Given the description of an element on the screen output the (x, y) to click on. 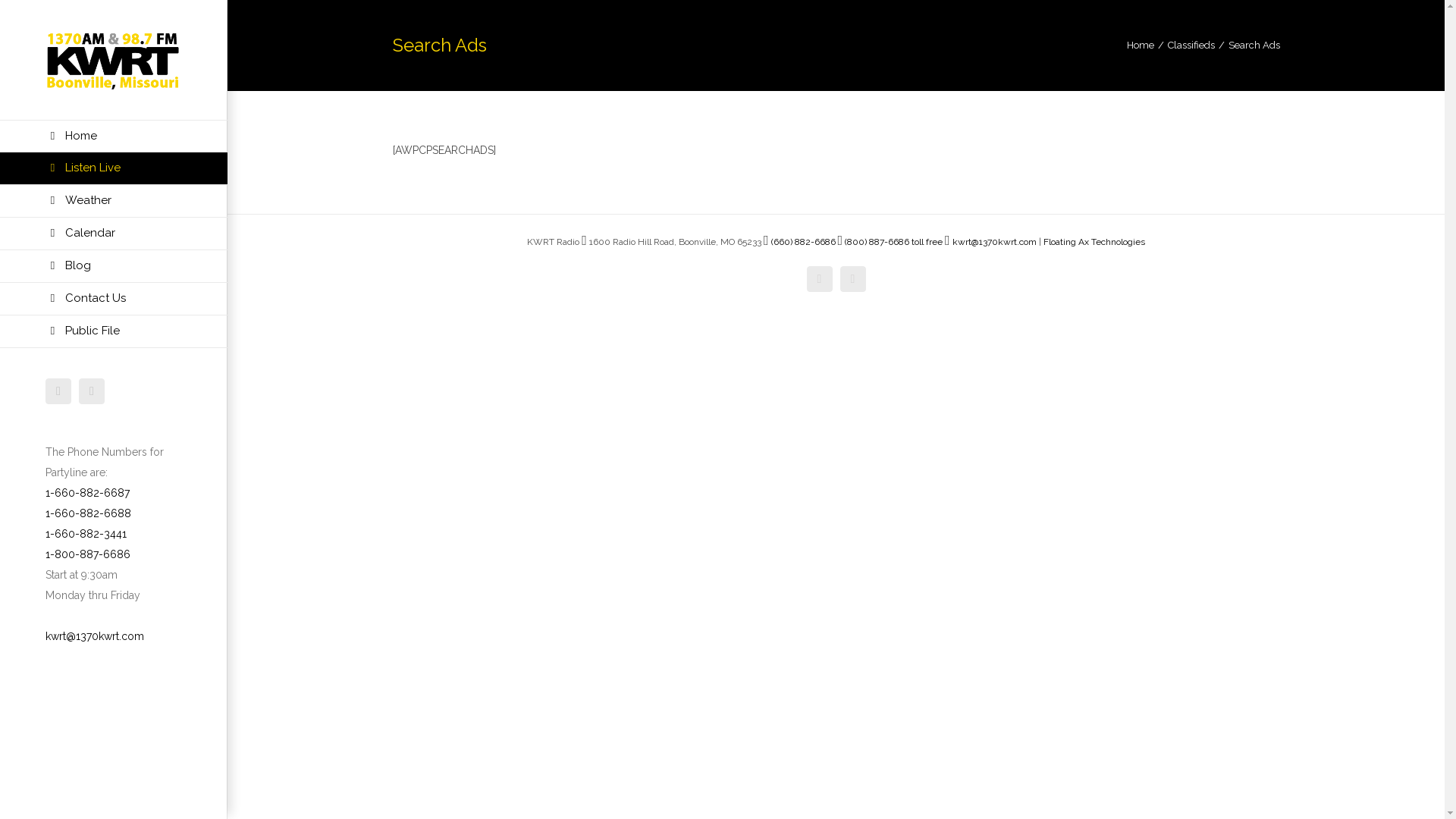
1-660-882-6688 Element type: text (88, 513)
1-800-887-6686 Element type: text (87, 554)
kwrt@1370kwrt.com Element type: text (94, 636)
Public File Element type: text (113, 331)
Floating Ax Technologies Element type: text (1094, 241)
Weather Element type: text (113, 201)
kwrt@1370kwrt.com Element type: text (990, 241)
(660) 882-6686 Element type: text (799, 241)
Calendar Element type: text (113, 233)
facebook Element type: text (819, 278)
(800) 887-6686 toll free Element type: text (893, 241)
Home Element type: text (1140, 44)
Blog Element type: text (113, 266)
Listen Live Element type: text (113, 168)
facebook Element type: text (58, 391)
twitter Element type: text (853, 278)
Contact Us Element type: text (113, 298)
Home Element type: text (113, 135)
1-660-882-3441 Element type: text (85, 533)
twitter Element type: text (91, 391)
1-660-882-6687 Element type: text (87, 492)
Classifieds Element type: text (1190, 44)
